Given the description of an element on the screen output the (x, y) to click on. 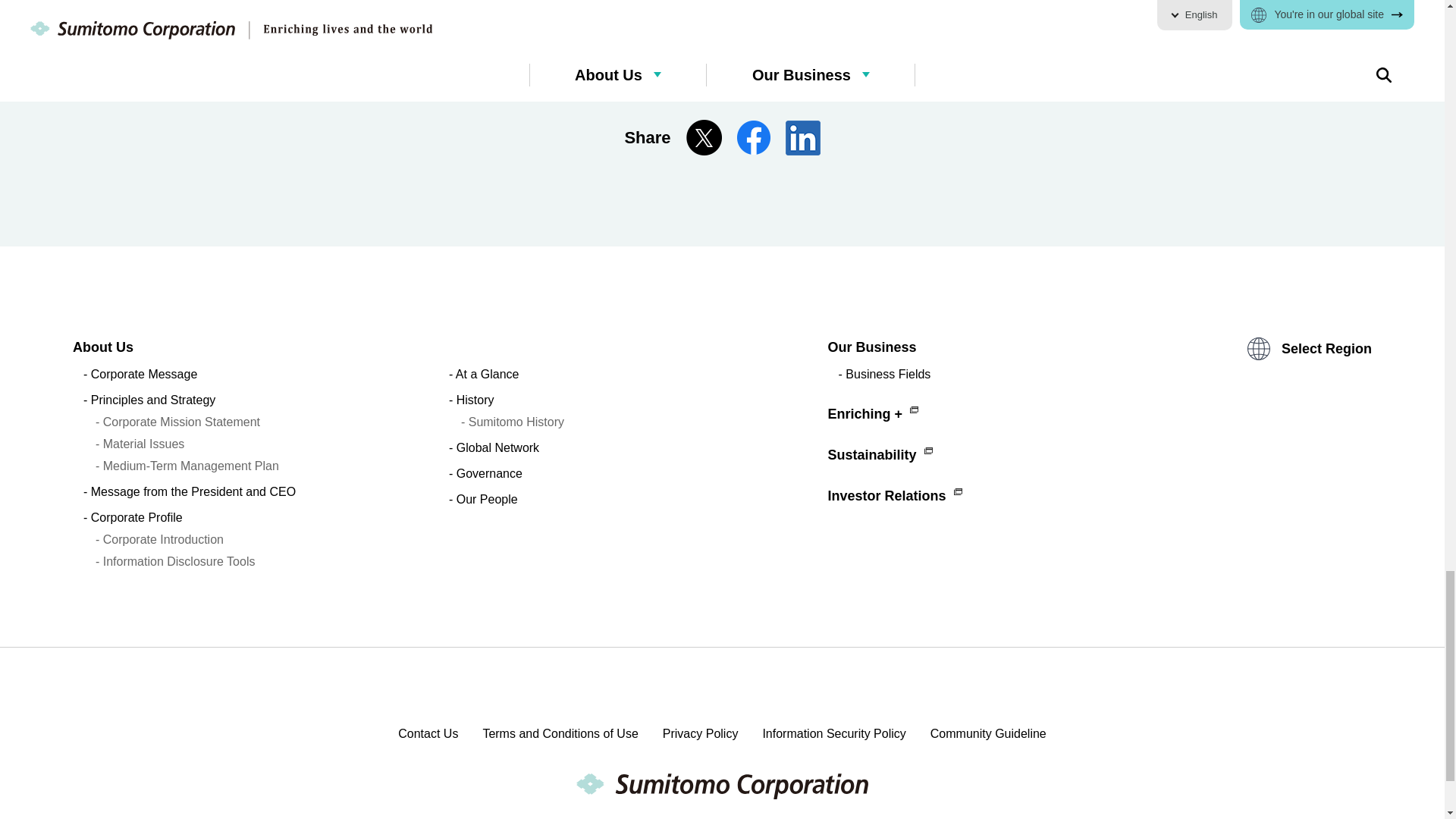
LinkedIn (721, 54)
